Given the description of an element on the screen output the (x, y) to click on. 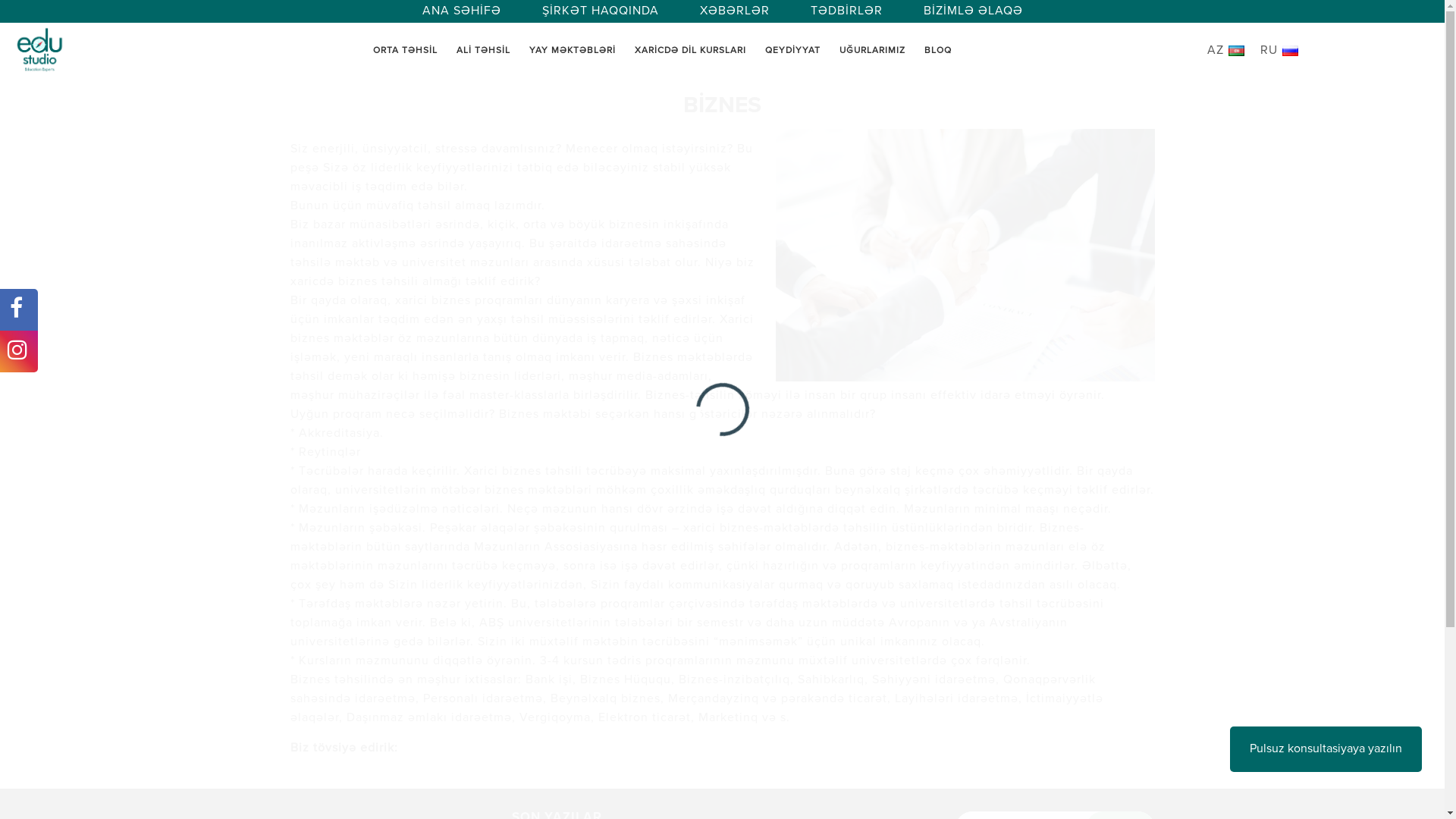
RU Element type: text (1281, 50)
AZ Element type: text (1229, 50)
QEYDIYYAT Element type: text (792, 50)
BLOQ Element type: text (937, 50)
